Given the description of an element on the screen output the (x, y) to click on. 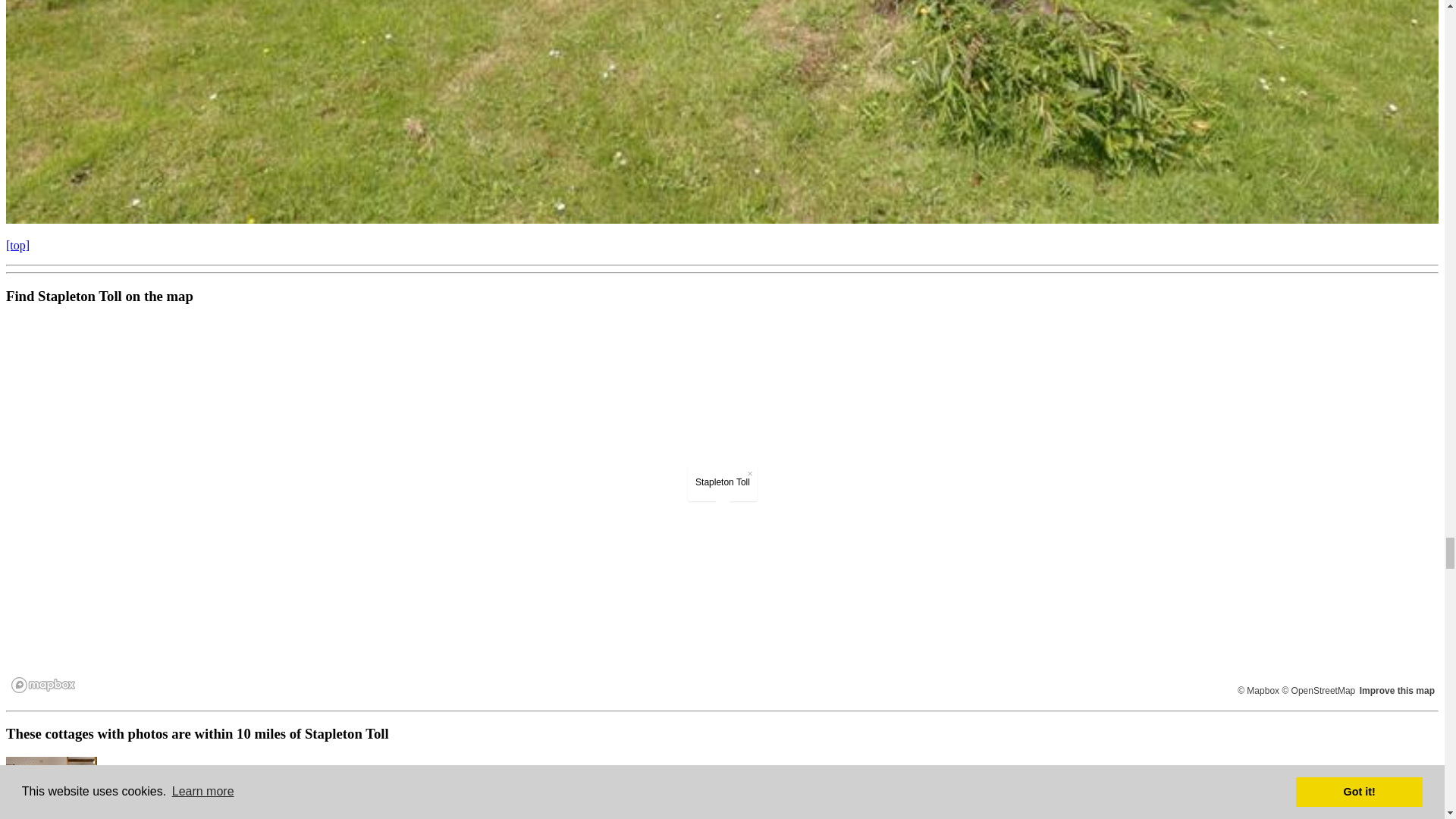
Mapbox (1258, 690)
OpenStreetMap (1318, 690)
